Given the description of an element on the screen output the (x, y) to click on. 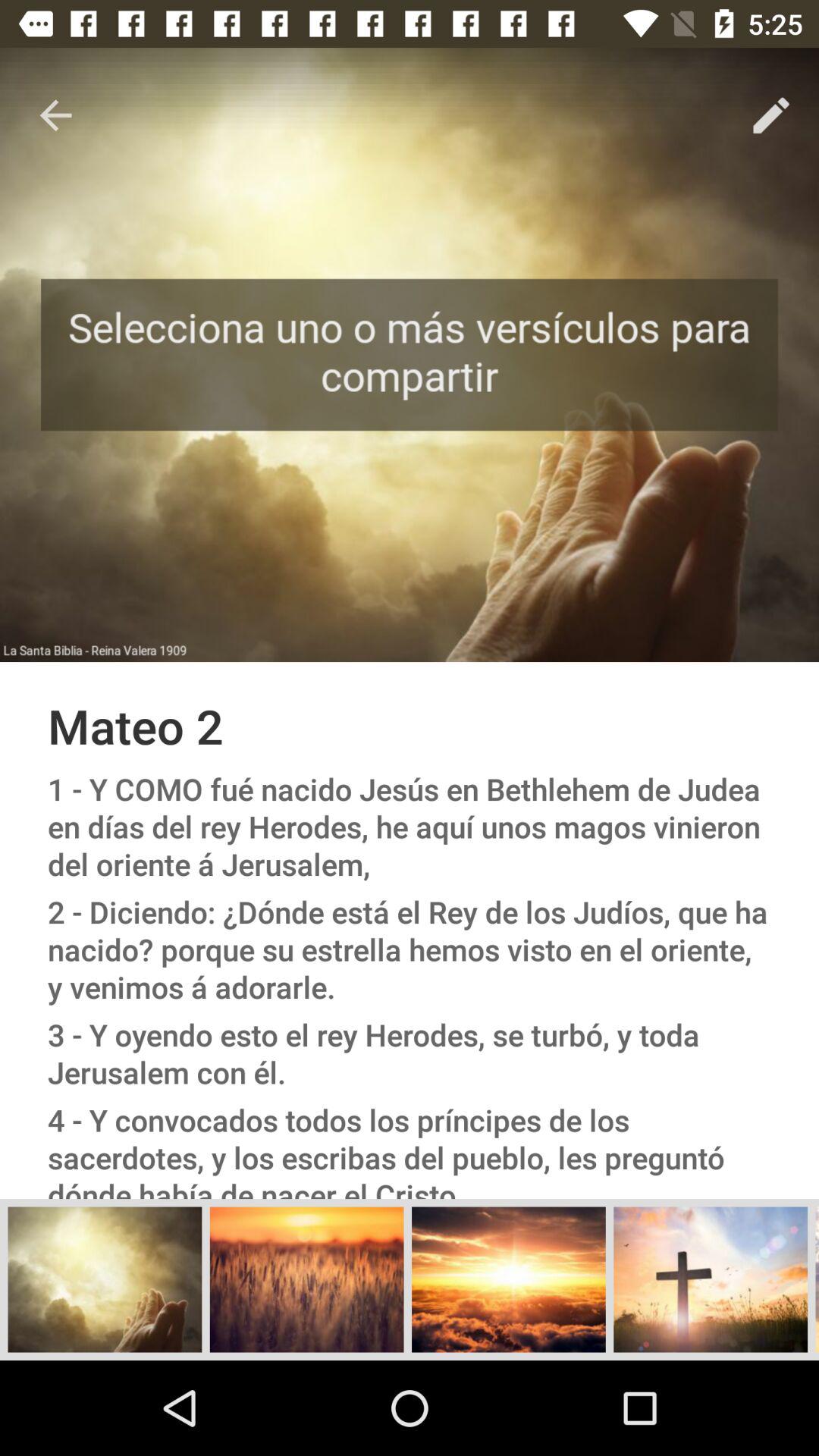
choose icon above the mateo 2 (55, 115)
